Given the description of an element on the screen output the (x, y) to click on. 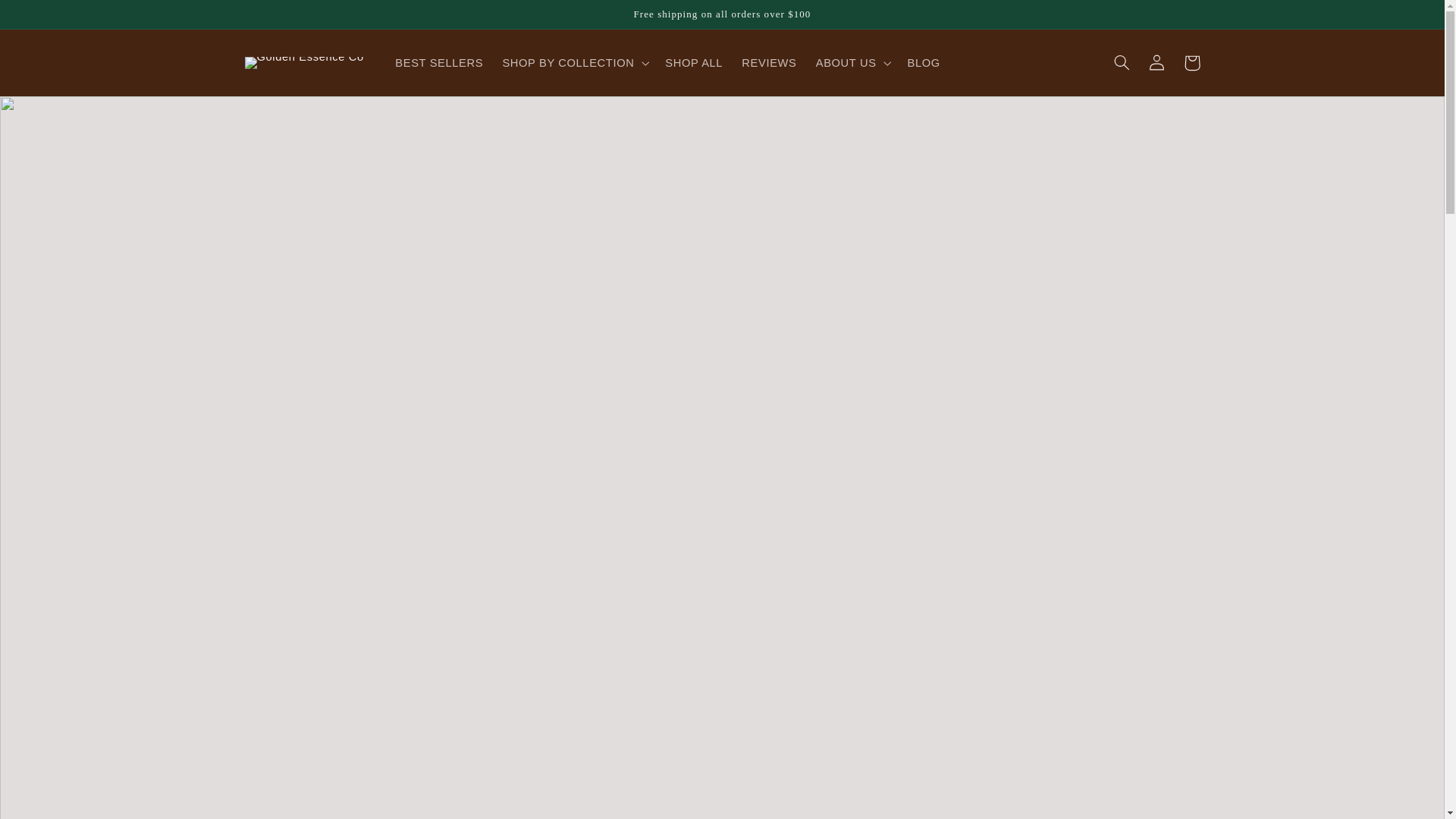
BEST SELLERS (439, 62)
Log in (1157, 62)
SHOP ALL (694, 62)
REVIEWS (769, 62)
Skip to content (48, 18)
BLOG (924, 62)
